Given the description of an element on the screen output the (x, y) to click on. 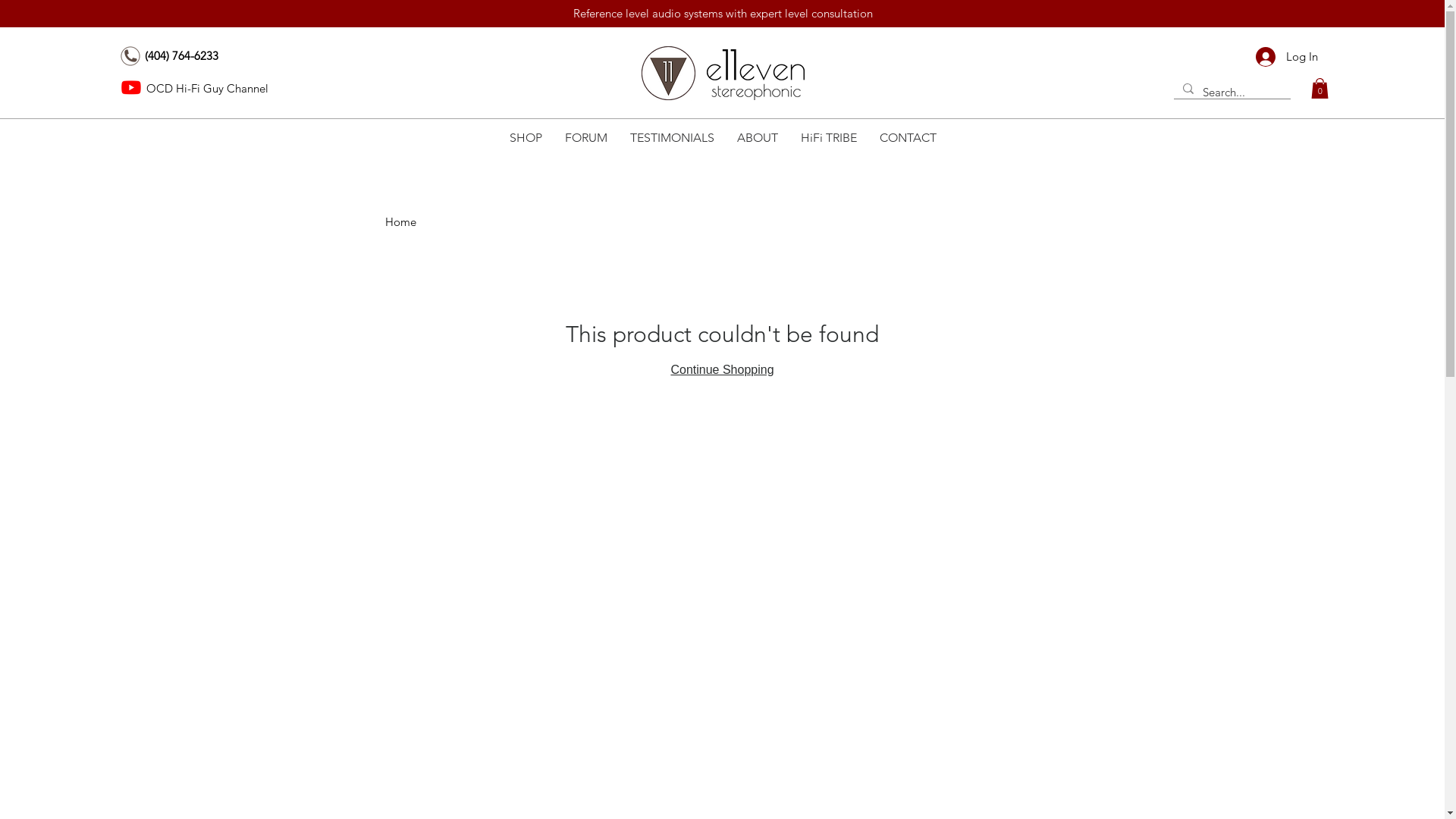
Home Element type: text (400, 221)
Continue Shopping Element type: text (721, 369)
Log In Element type: text (1286, 56)
0 Element type: text (1319, 88)
OCD Hi-Fi Guy Channel Element type: text (207, 88)
SHOP Element type: text (524, 137)
Reference level audio systems with expert level consultation Element type: text (722, 13)
TESTIMONIALS Element type: text (671, 137)
FORUM Element type: text (585, 137)
CONTACT Element type: text (907, 137)
(404) 764-6233 Element type: text (181, 55)
ABOUT Element type: text (756, 137)
